Given the description of an element on the screen output the (x, y) to click on. 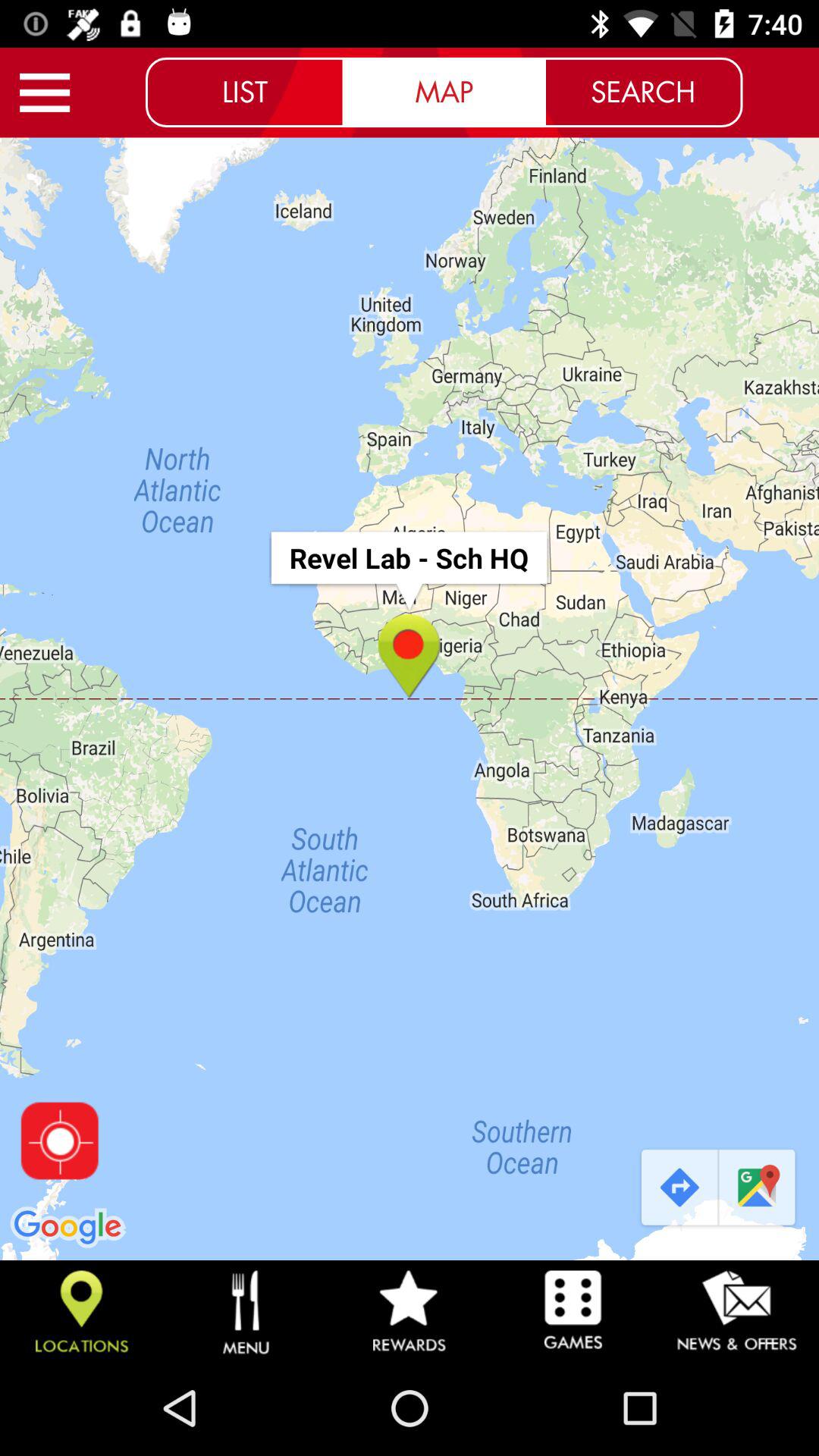
jump until the search icon (642, 92)
